Given the description of an element on the screen output the (x, y) to click on. 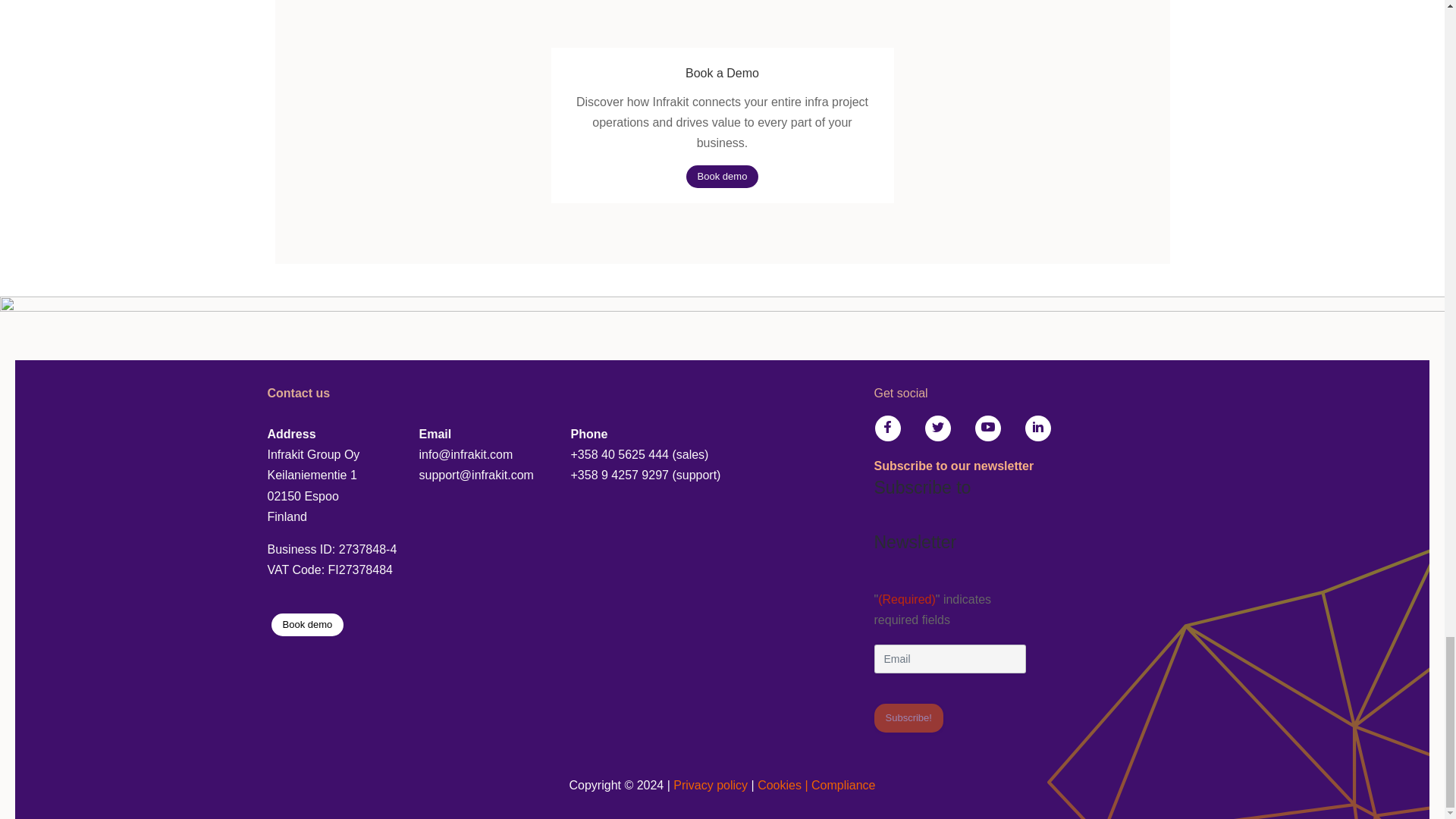
footer (722, 333)
Subscribe! (907, 717)
Book demo (721, 176)
Subscribe! (907, 717)
Book demo (306, 624)
